Given the description of an element on the screen output the (x, y) to click on. 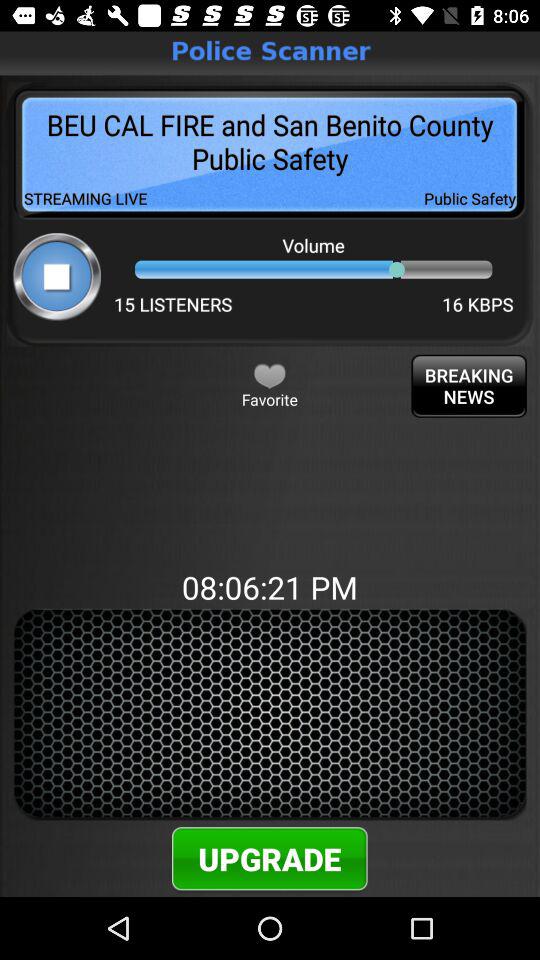
click the app below the streaming live (56, 276)
